Given the description of an element on the screen output the (x, y) to click on. 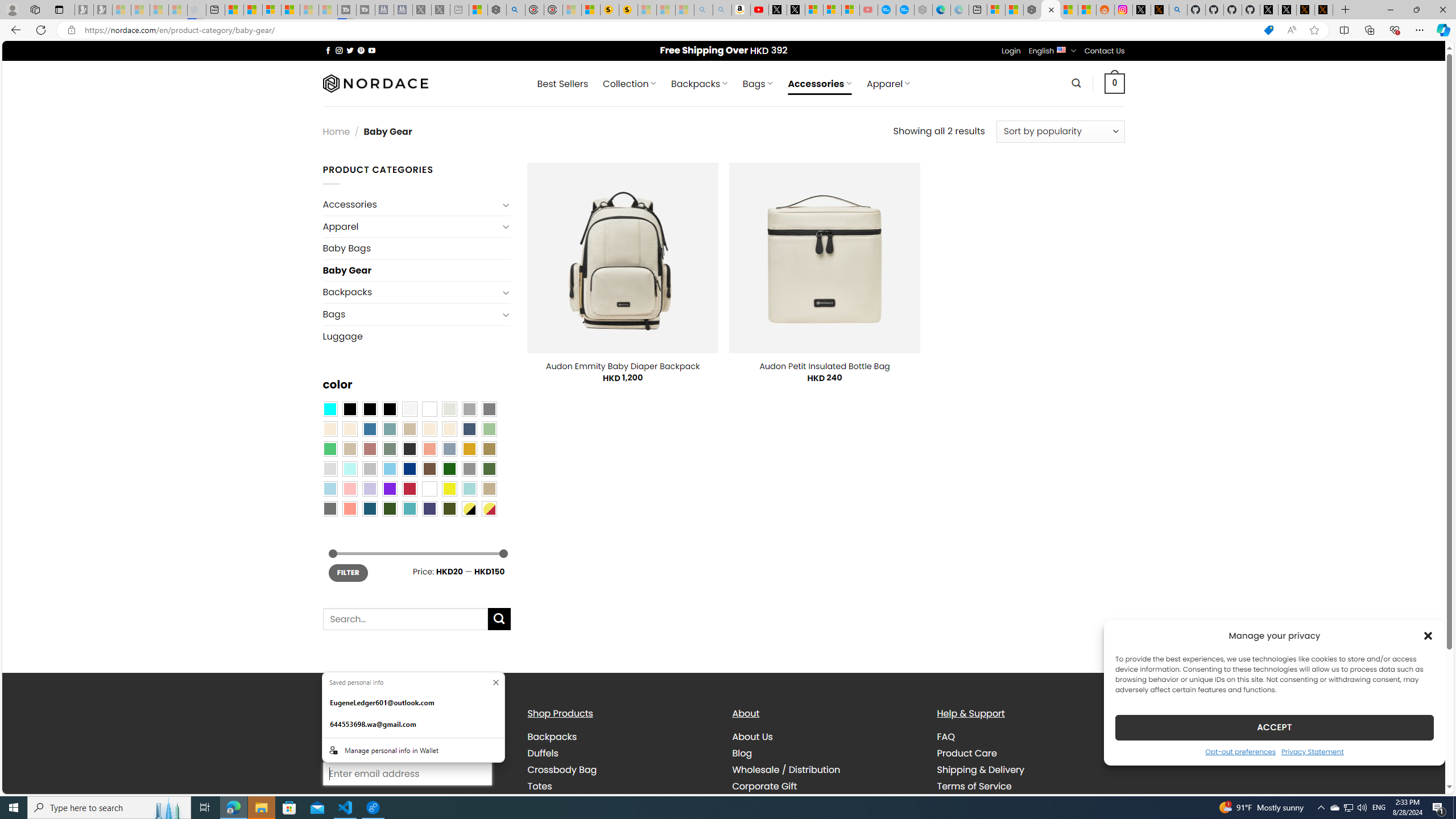
Army Green (449, 508)
 0  (1115, 83)
Backpacks (620, 737)
Ash Gray (449, 408)
Brownie (408, 428)
  0   (1115, 83)
Gold (468, 448)
Luggage (416, 336)
Red (408, 488)
Purple Navy (429, 508)
